Given the description of an element on the screen output the (x, y) to click on. 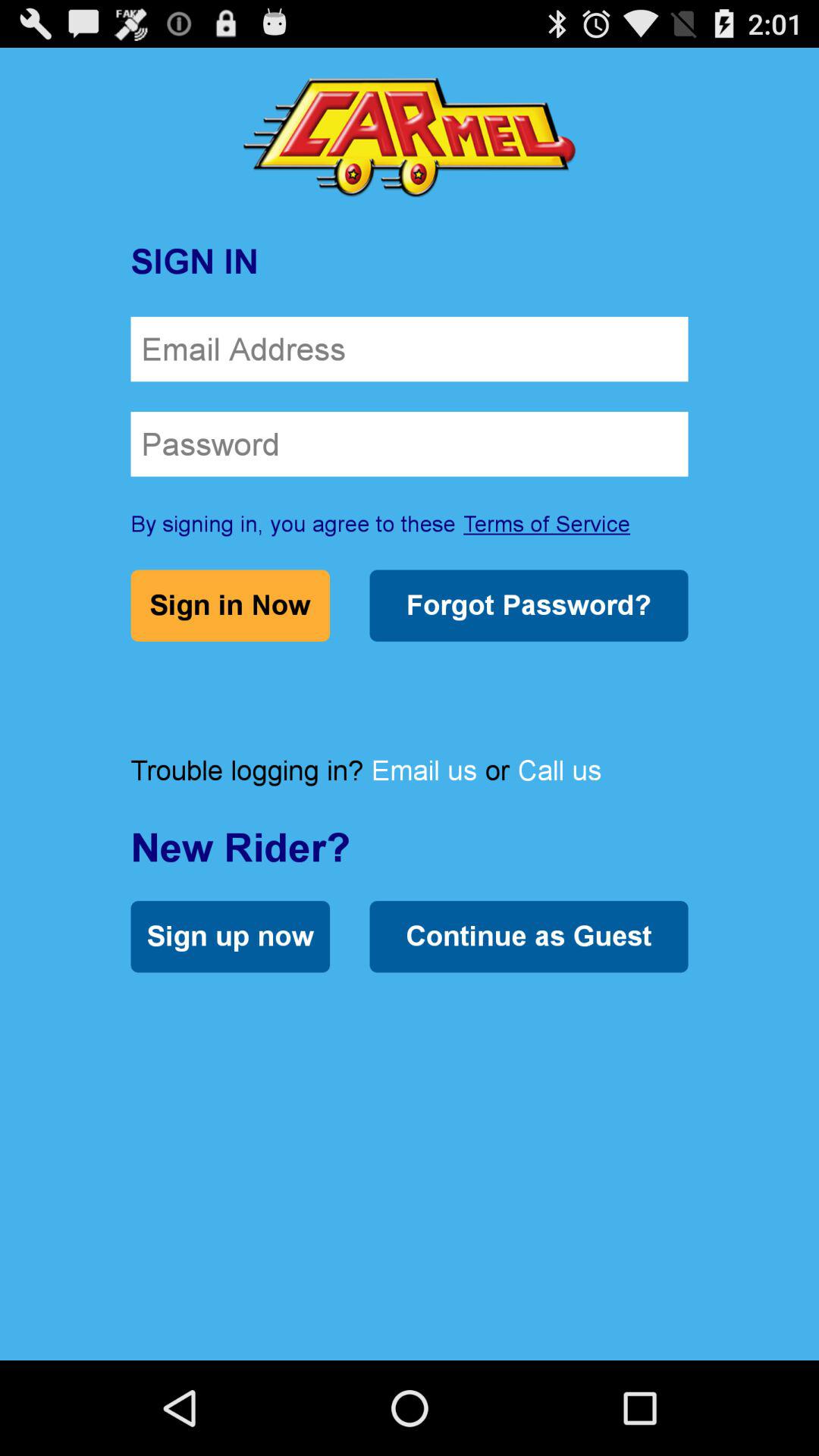
jump until terms of service item (546, 523)
